Given the description of an element on the screen output the (x, y) to click on. 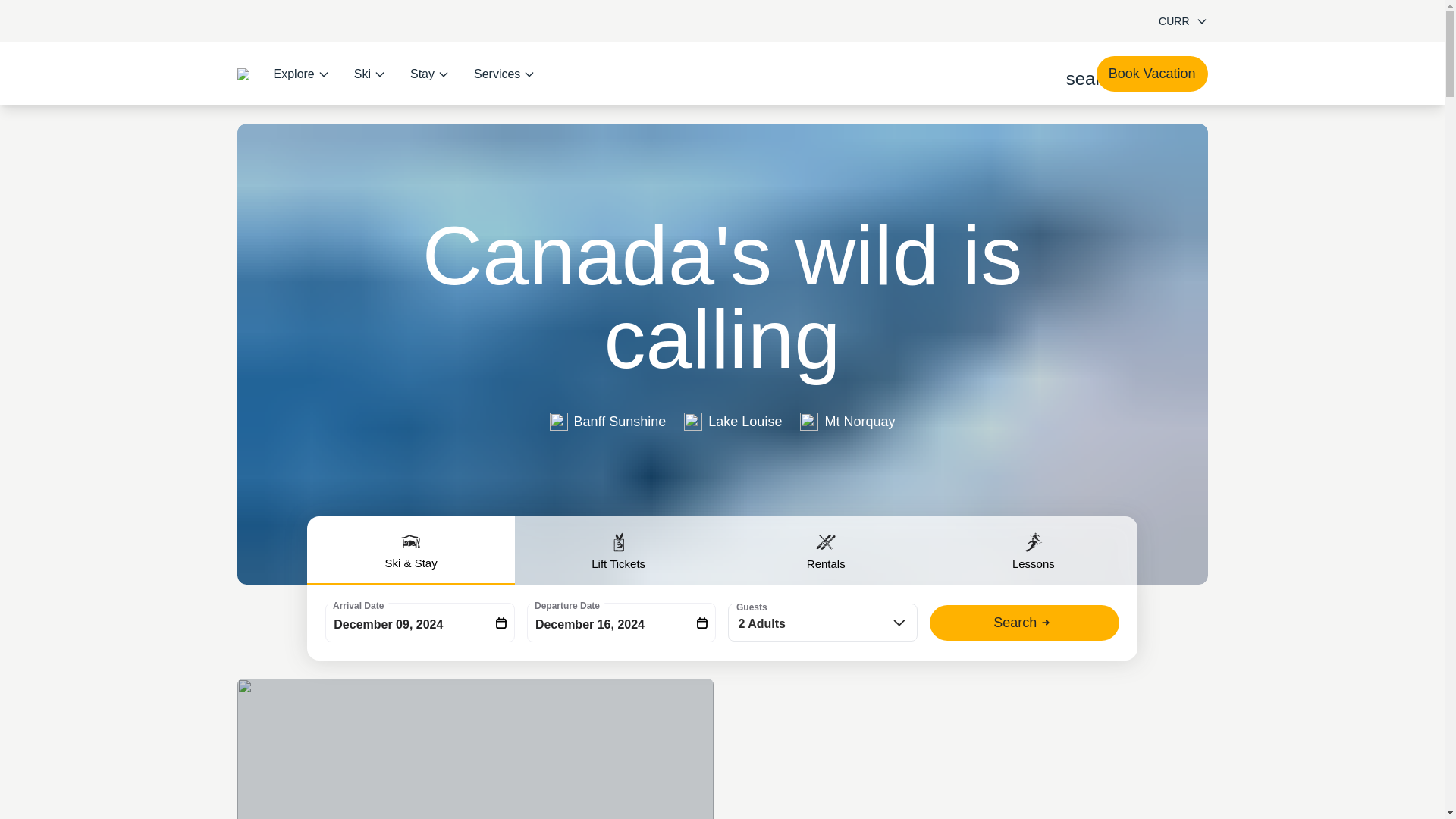
search (1074, 74)
Lift Tickets (618, 550)
Lessons (1033, 550)
Search (1024, 622)
December 09, 2024 (419, 622)
Book Vacation (1152, 73)
December 16, 2024 (621, 622)
Rentals (826, 550)
Book Vacation (1152, 73)
Search (1024, 622)
